Given the description of an element on the screen output the (x, y) to click on. 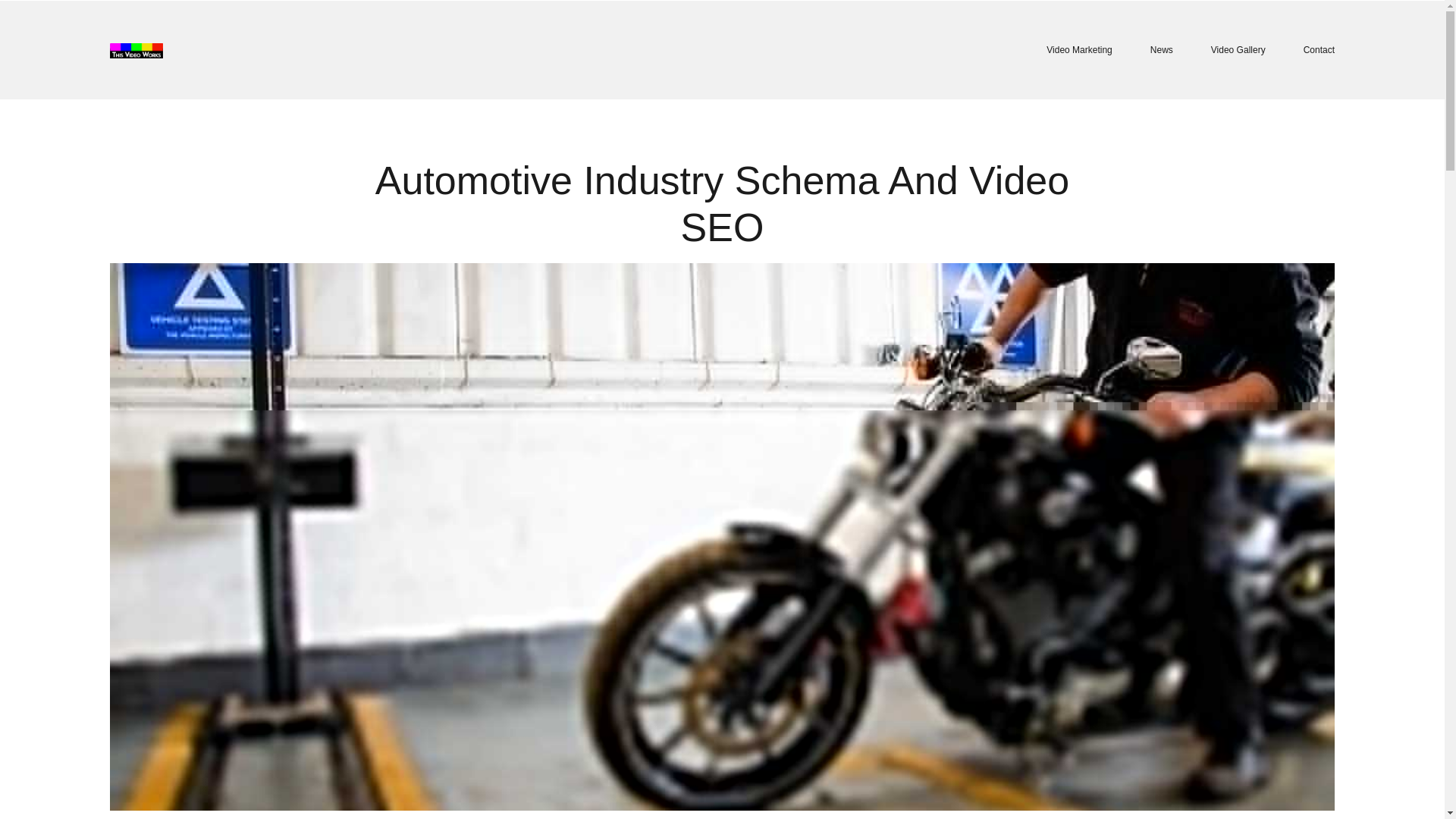
Video Marketing (1079, 49)
Video Gallery (1238, 49)
News (1161, 49)
Contact (1319, 49)
